Given the description of an element on the screen output the (x, y) to click on. 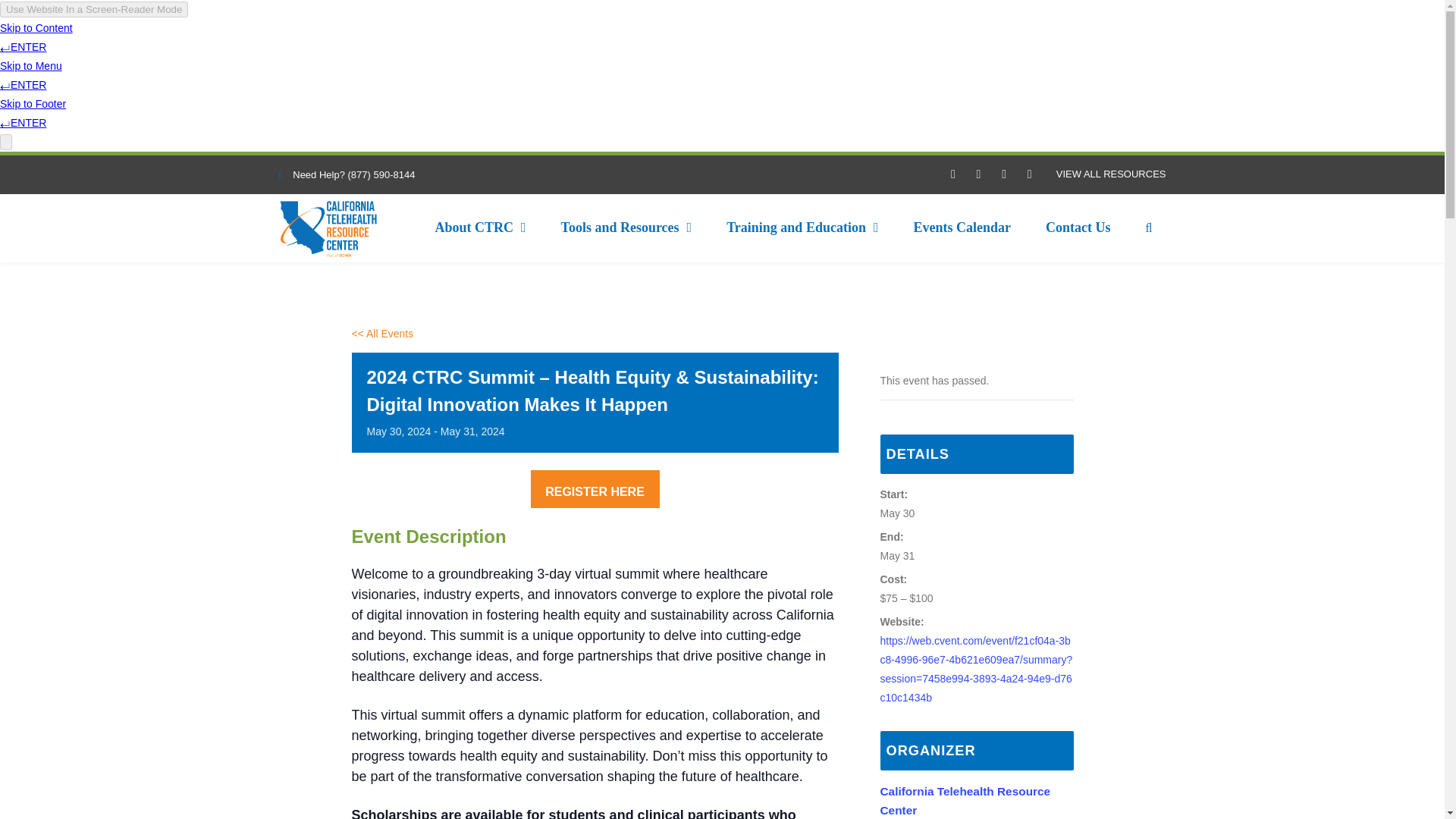
California Telehealth Resource Center (328, 228)
California Telehealth Resource Center (964, 800)
Events Calendar (961, 228)
2024-05-31 (896, 555)
Training and Education (802, 228)
Tools and Resources (626, 228)
VIEW ALL RESOURCES (1111, 173)
About CTRC (479, 228)
2024-05-30 (896, 512)
REGISTER HERE (595, 488)
Contact Us (1077, 228)
